Given the description of an element on the screen output the (x, y) to click on. 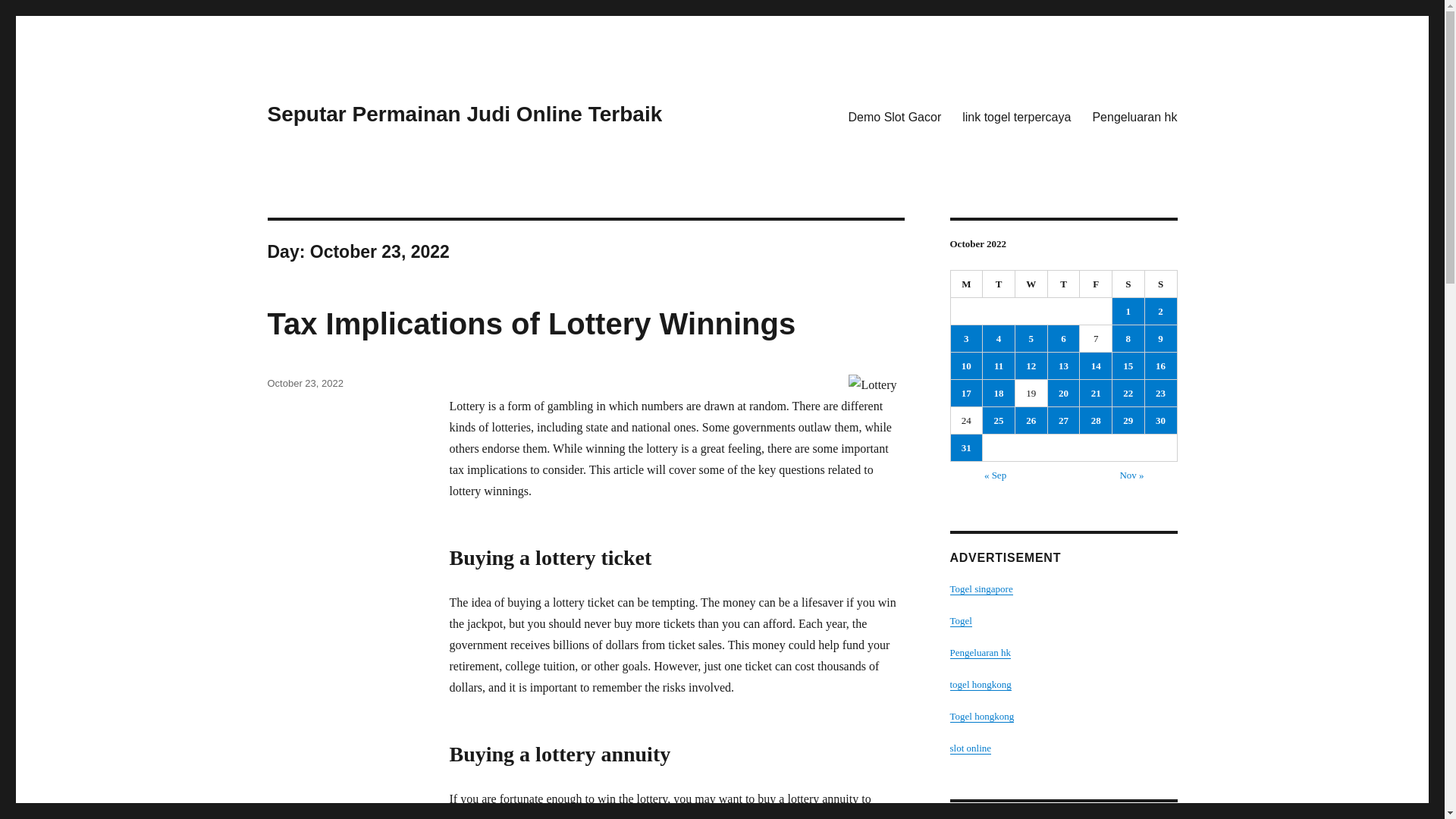
Seputar Permainan Judi Online Terbaik (464, 114)
17 (966, 393)
Wednesday (1031, 284)
18 (998, 393)
Demo Slot Gacor (894, 116)
Sunday (1160, 284)
Thursday (1064, 284)
26 (1030, 420)
Pengeluaran hk (1134, 116)
3 (966, 338)
